Given the description of an element on the screen output the (x, y) to click on. 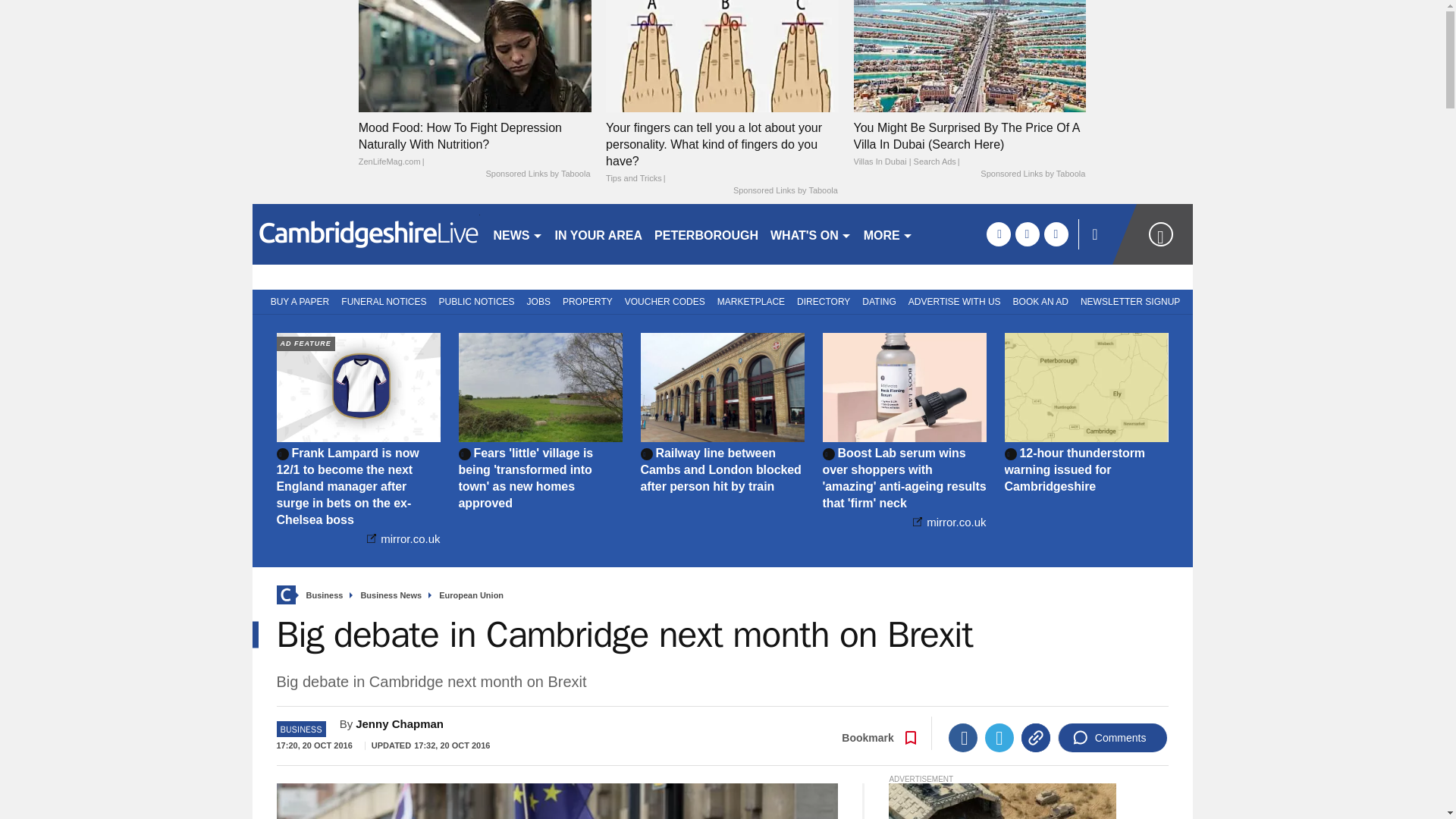
instagram (1055, 233)
cambridgenews (365, 233)
IN YOUR AREA (598, 233)
WHAT'S ON (810, 233)
PETERBOROUGH (705, 233)
Sponsored Links by Taboola (1031, 174)
Twitter (999, 737)
Facebook (962, 737)
Mood Food: How To Fight Depression Naturally With Nutrition? (474, 144)
Mood Food: How To Fight Depression Naturally With Nutrition? (474, 55)
twitter (1026, 233)
Comments (1112, 737)
facebook (997, 233)
